Given the description of an element on the screen output the (x, y) to click on. 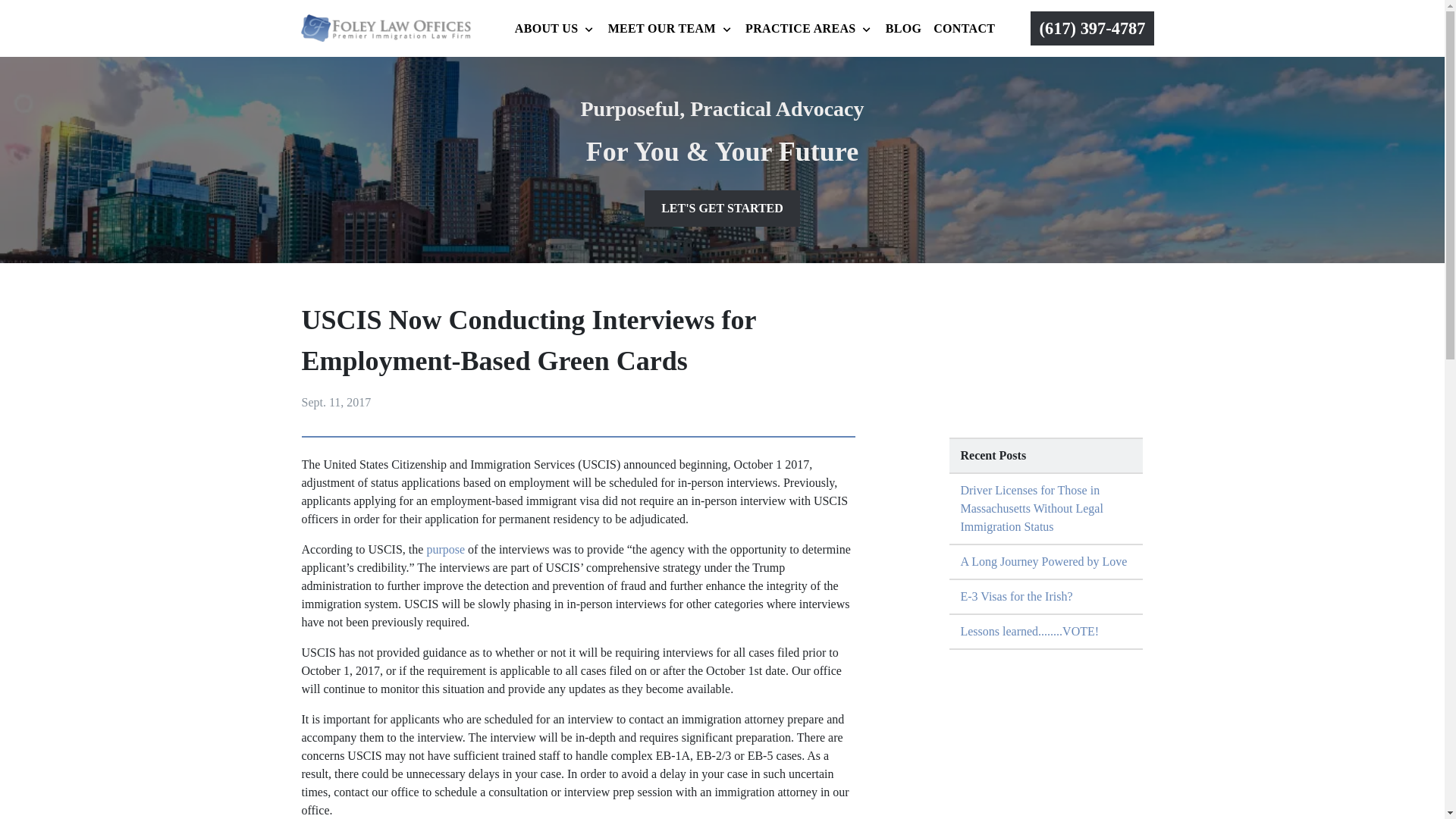
PRACTICE AREAS (797, 28)
MEET OUR TEAM (659, 28)
A Long Journey Powered by Love (1045, 562)
BLOG (903, 28)
ABOUT US (543, 28)
purpose (445, 549)
LET'S GET STARTED (722, 208)
CONTACT (964, 28)
Lessons learned........VOTE! (1045, 632)
E-3 Visas for the Irish? (1045, 597)
